Given the description of an element on the screen output the (x, y) to click on. 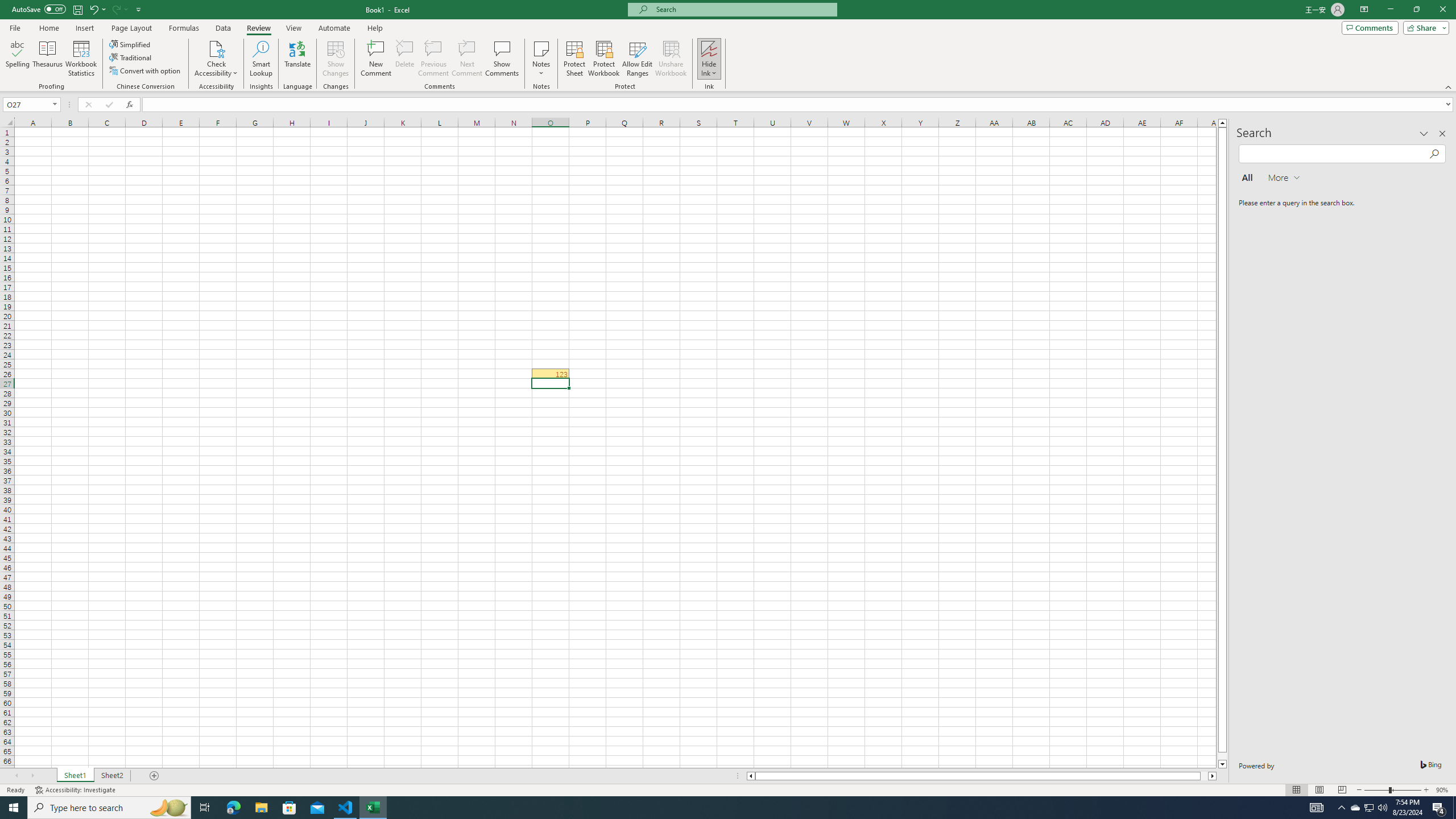
Show Changes (335, 58)
Check Accessibility (215, 48)
Sheet2 (112, 775)
Traditional (131, 56)
Accessibility Checker Accessibility: Investigate (76, 790)
Hide Ink (708, 48)
Hide Ink (708, 58)
